Given the description of an element on the screen output the (x, y) to click on. 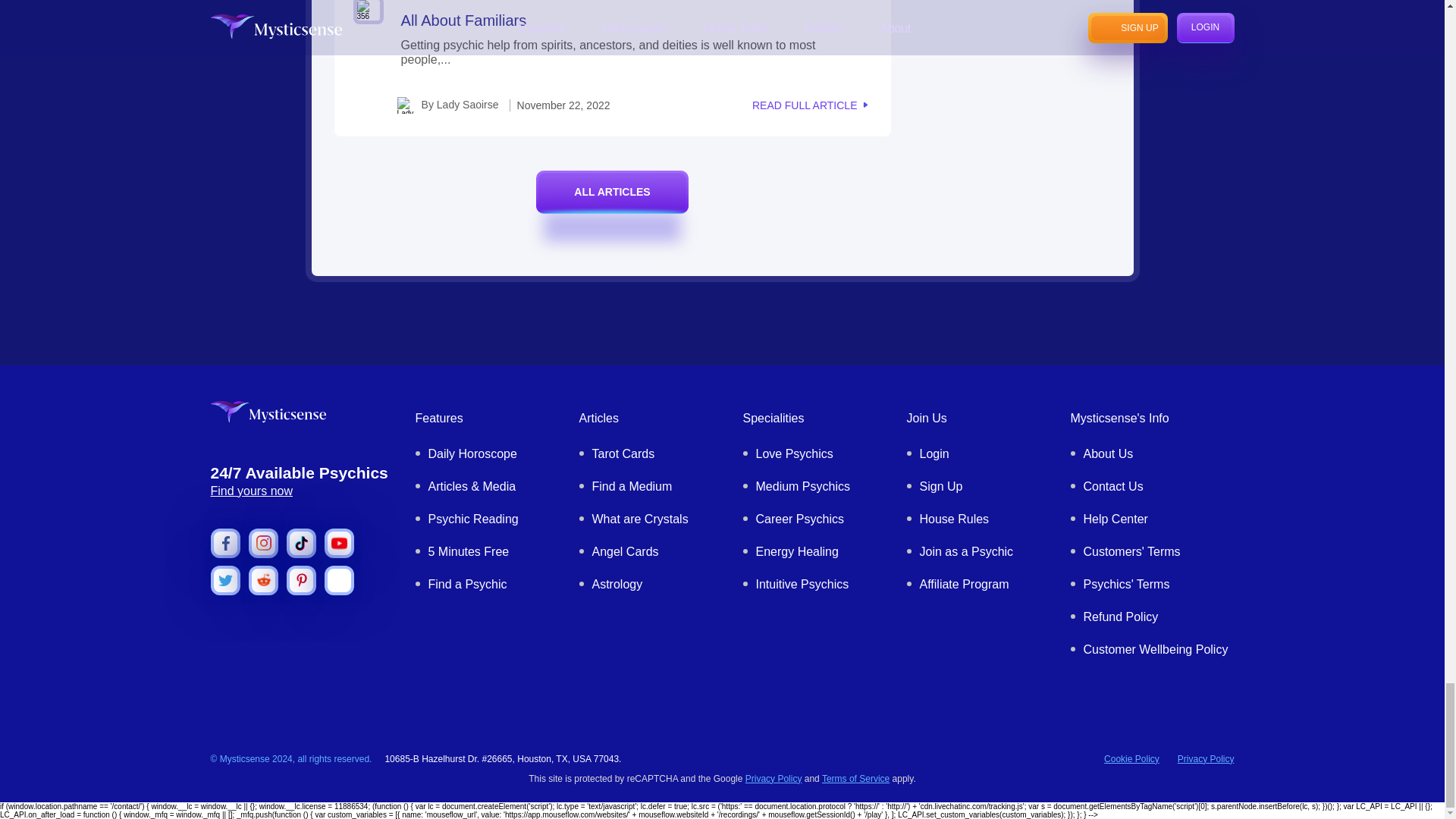
All About Familiars (464, 20)
